Given the description of an element on the screen output the (x, y) to click on. 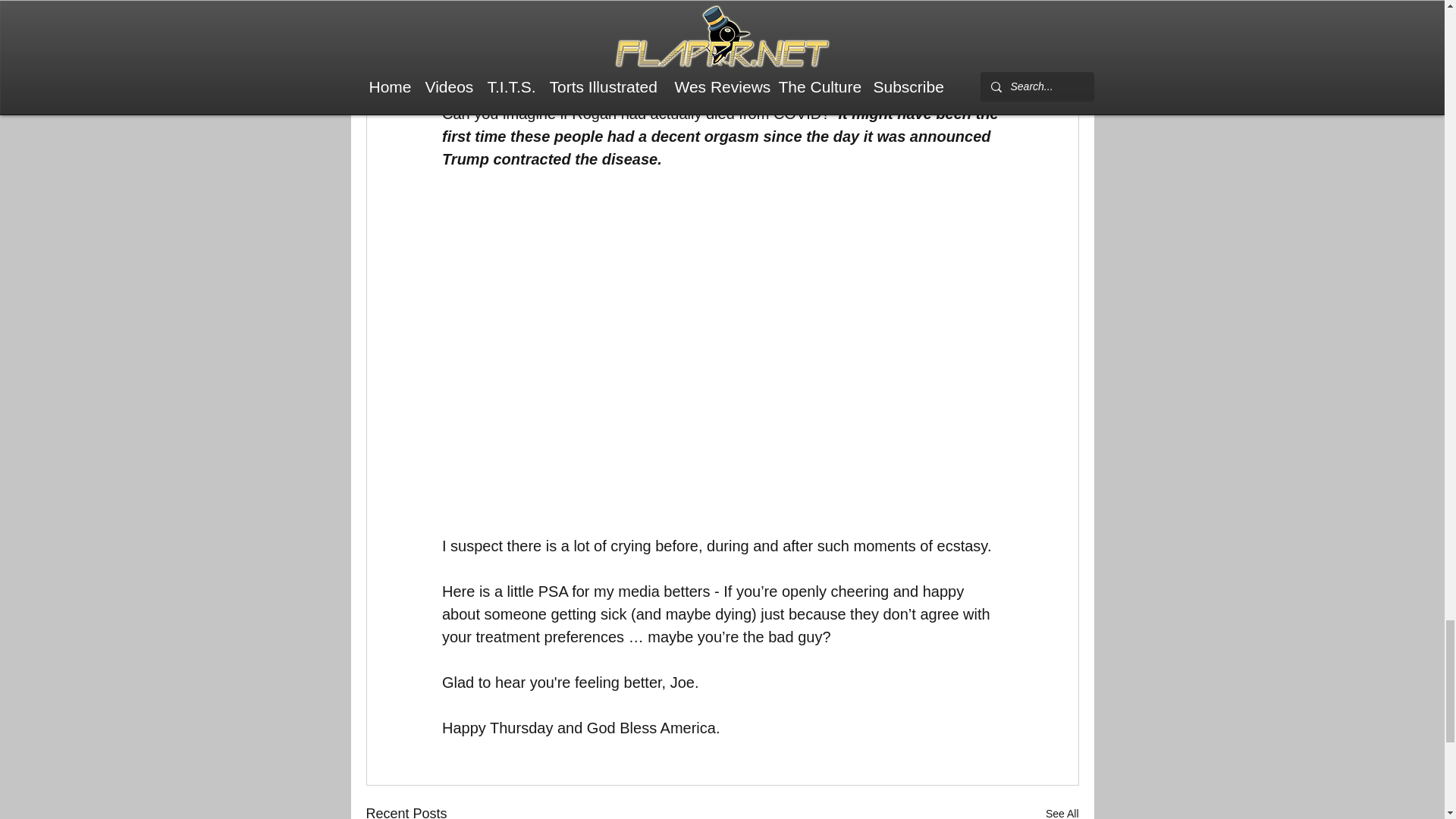
wonder drug (761, 21)
See All (1061, 811)
